Given the description of an element on the screen output the (x, y) to click on. 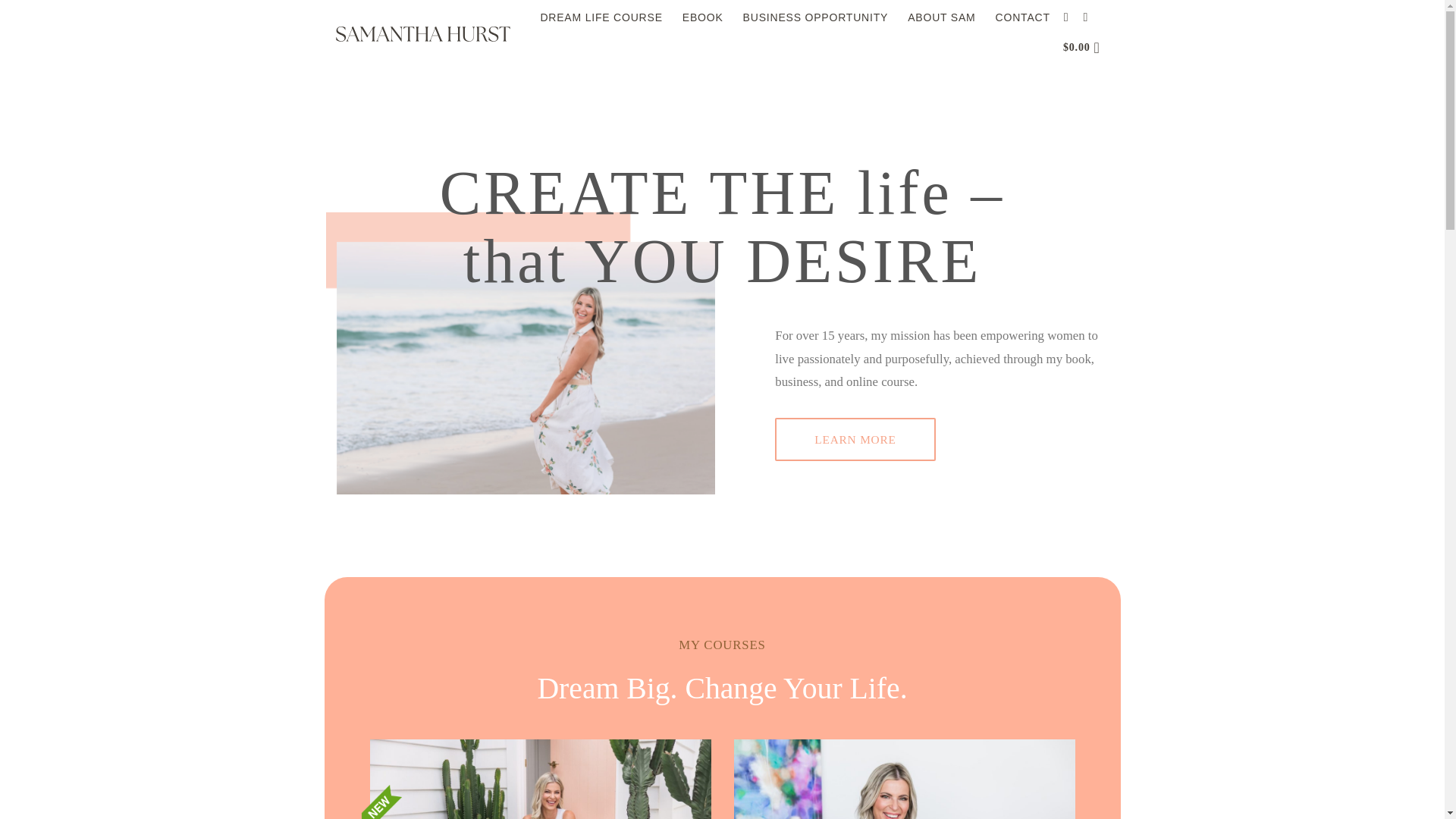
LEARN MORE (854, 439)
Cart (1085, 47)
ABOUT SAM (941, 17)
EBOOK (702, 17)
CONTACT (1022, 17)
BUSINESS OPPORTUNITY (815, 17)
Follow on Instagram (1069, 16)
DREAM LIFE COURSE (601, 17)
